Given the description of an element on the screen output the (x, y) to click on. 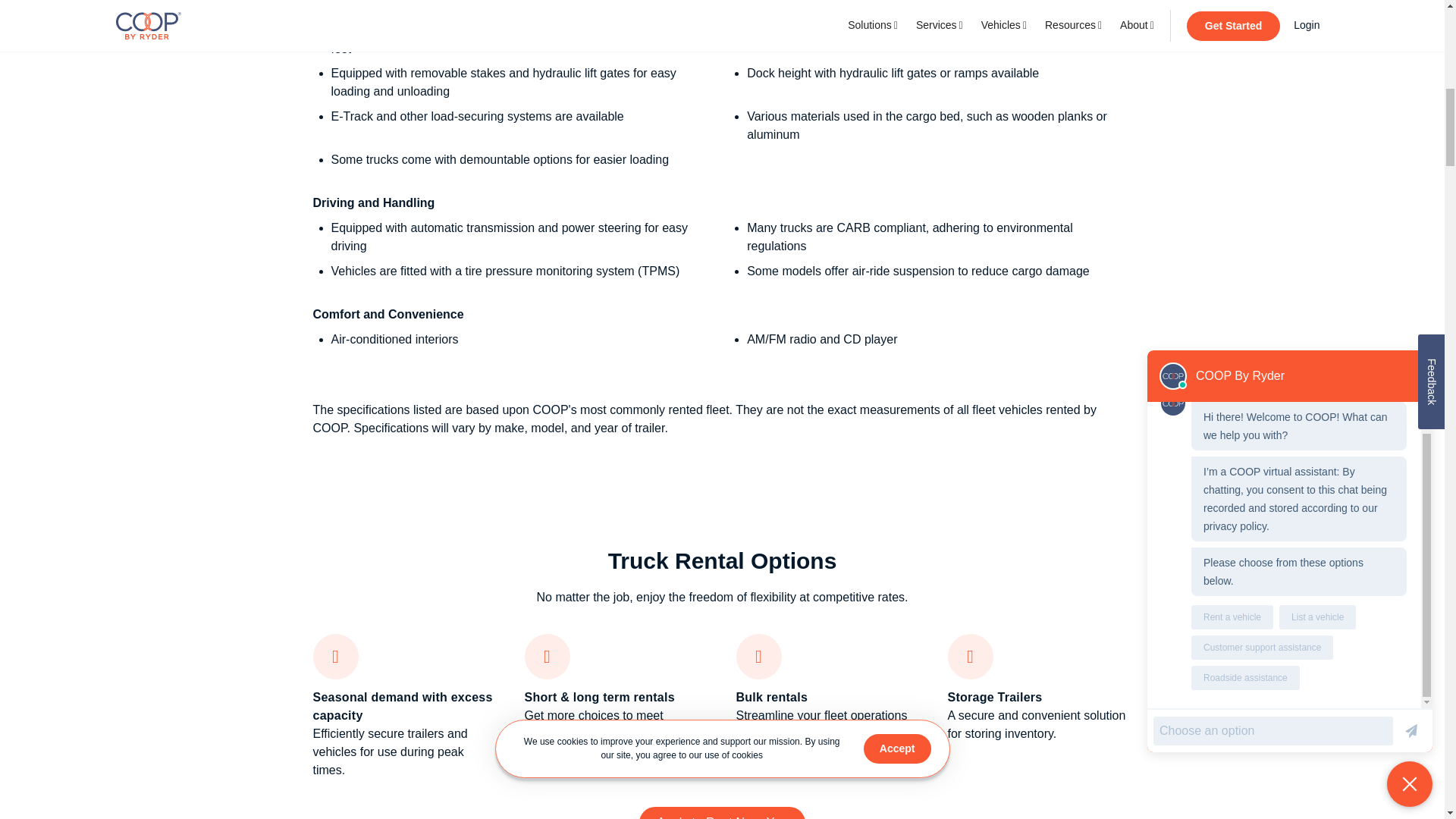
Apply to Rent Near You (722, 812)
